Given the description of an element on the screen output the (x, y) to click on. 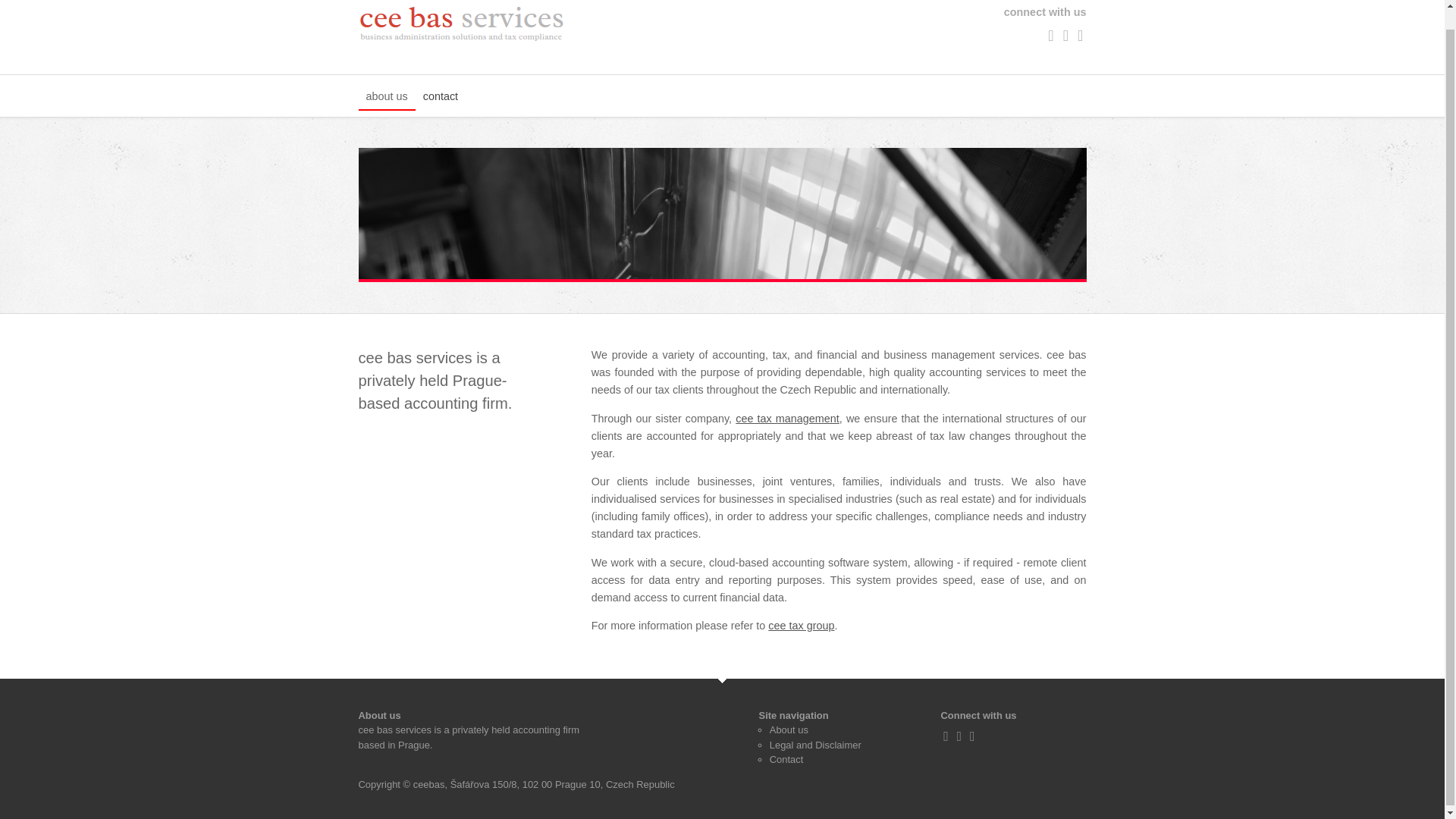
cee tax management (787, 418)
about us (386, 96)
contact (439, 96)
Contact (786, 758)
Legal and Disclaimer (815, 745)
About us (789, 729)
cee tax group (801, 625)
